Given the description of an element on the screen output the (x, y) to click on. 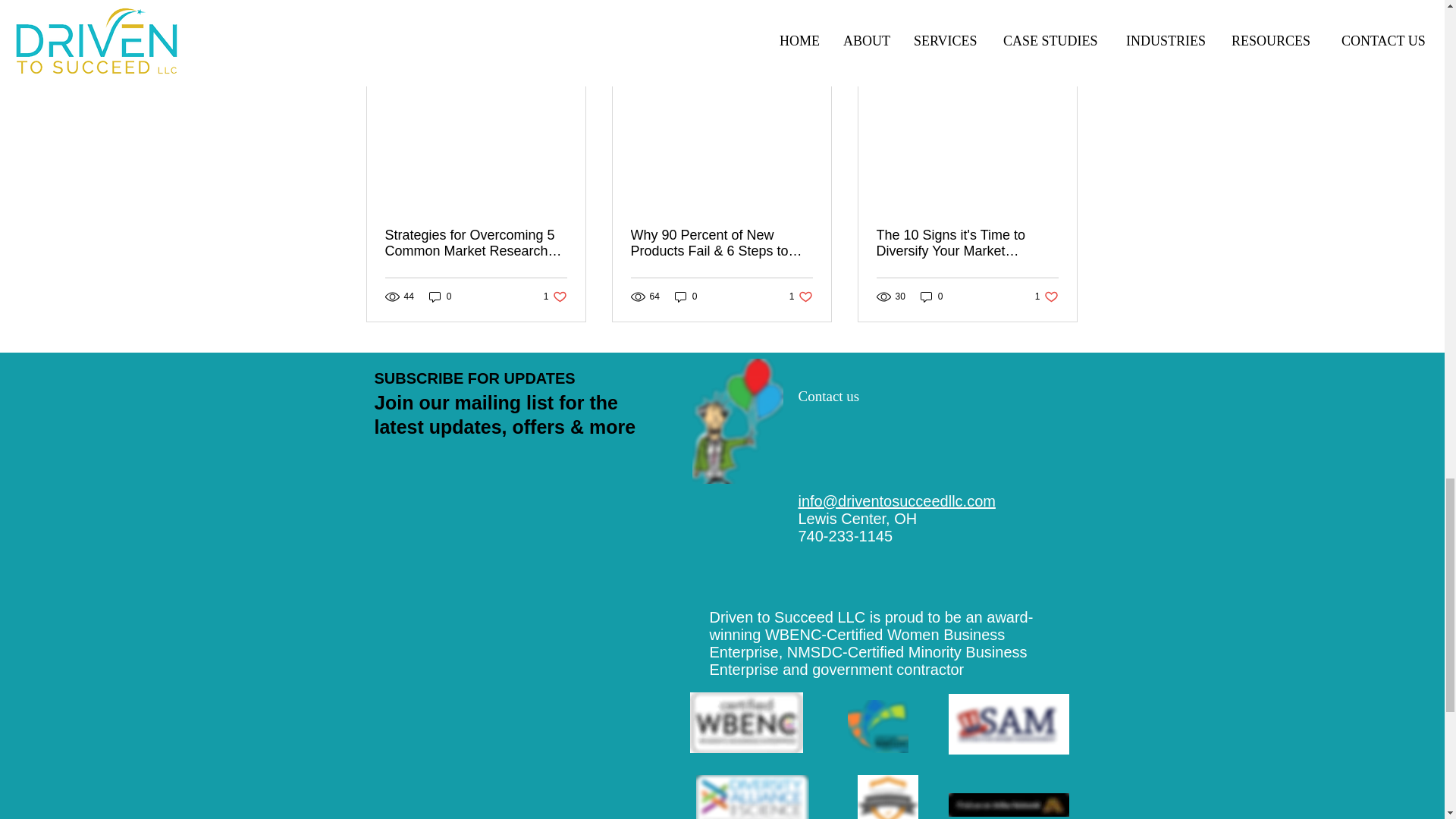
0 (555, 296)
See All (440, 296)
cyberreadymbe-certificate-of-completion. (1061, 59)
0 (887, 796)
